Given the description of an element on the screen output the (x, y) to click on. 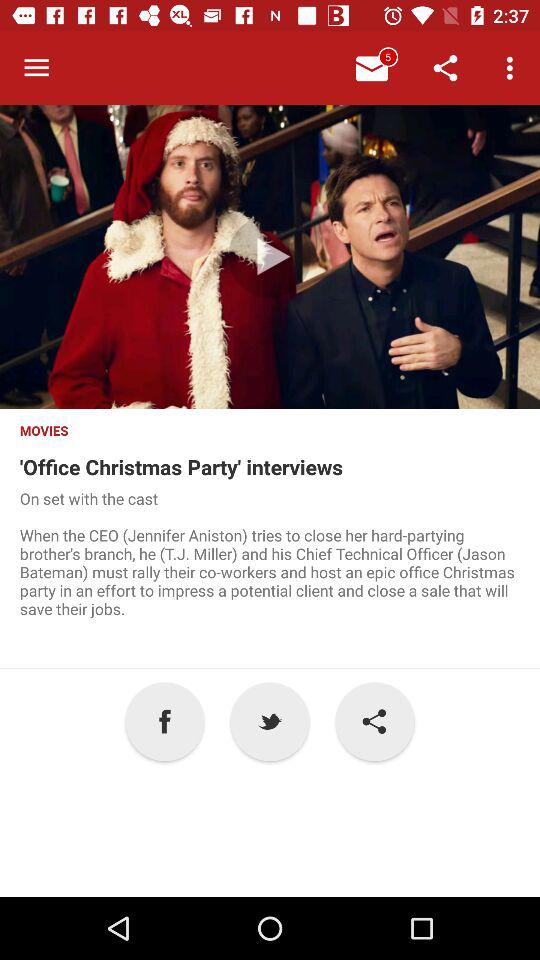
select item next to the p icon (164, 721)
